Given the description of an element on the screen output the (x, y) to click on. 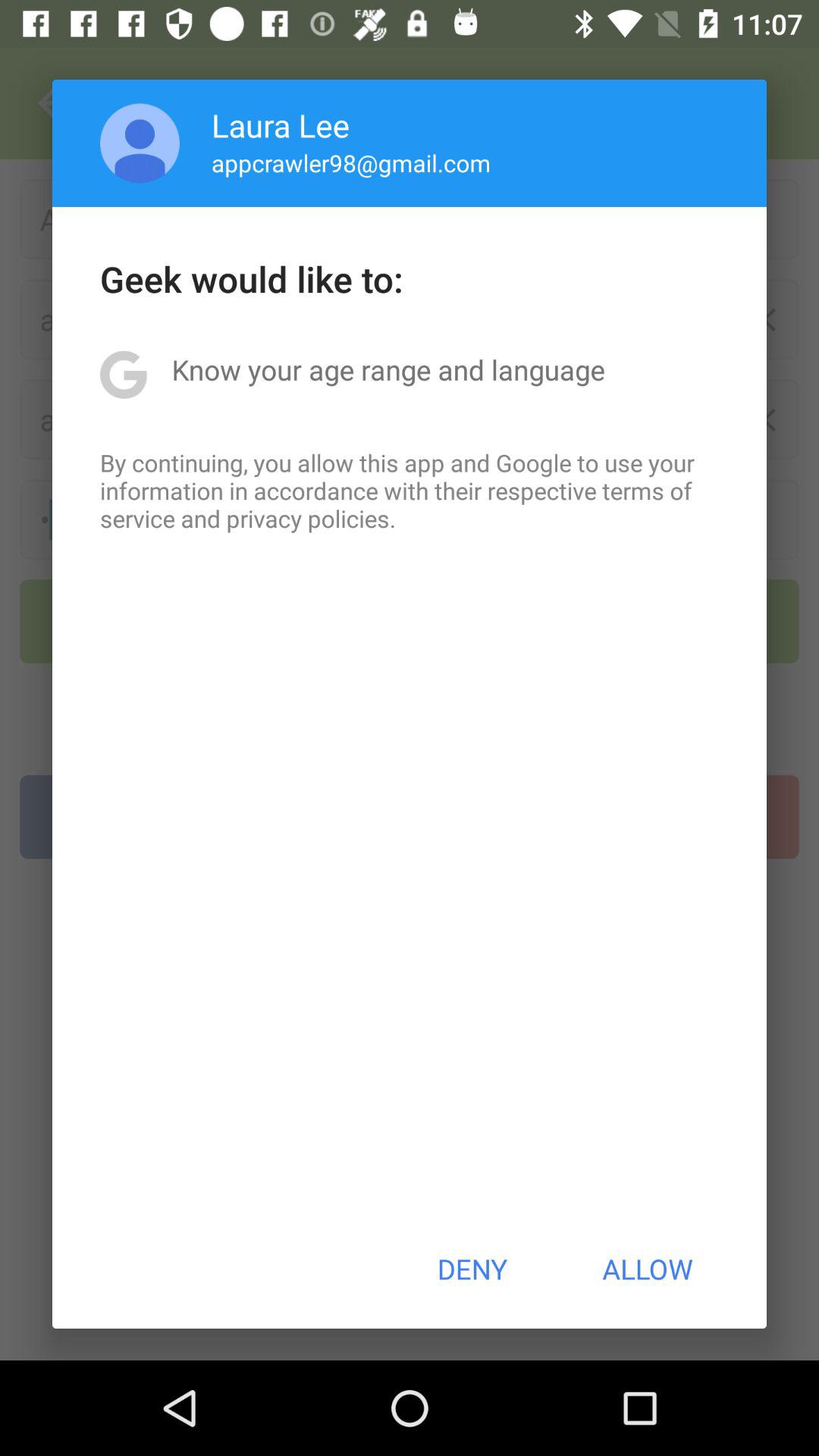
swipe to the know your age app (388, 369)
